Given the description of an element on the screen output the (x, y) to click on. 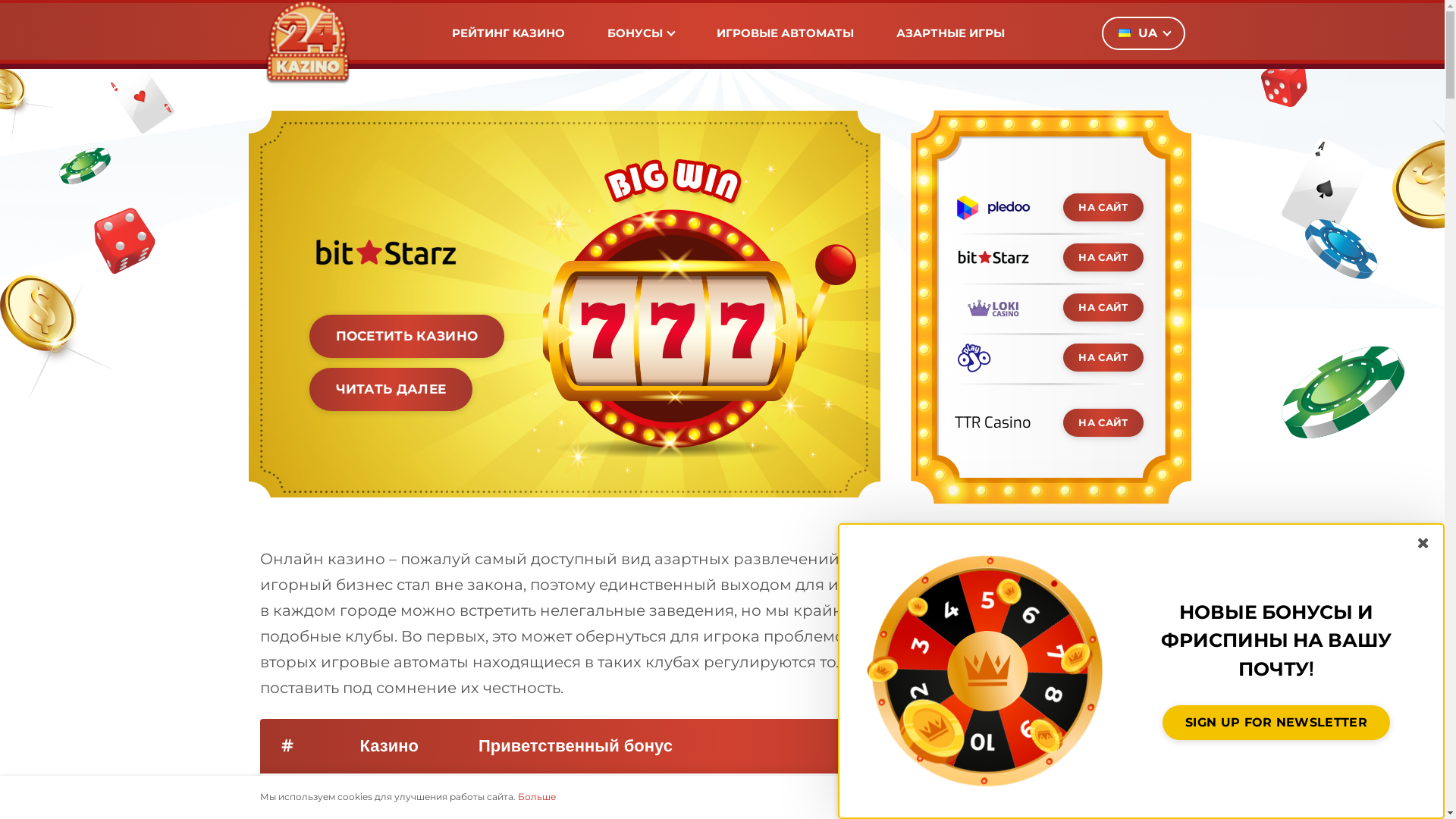
TTR Casino Element type: text (991, 422)
UA Element type: text (1142, 33)
